Given the description of an element on the screen output the (x, y) to click on. 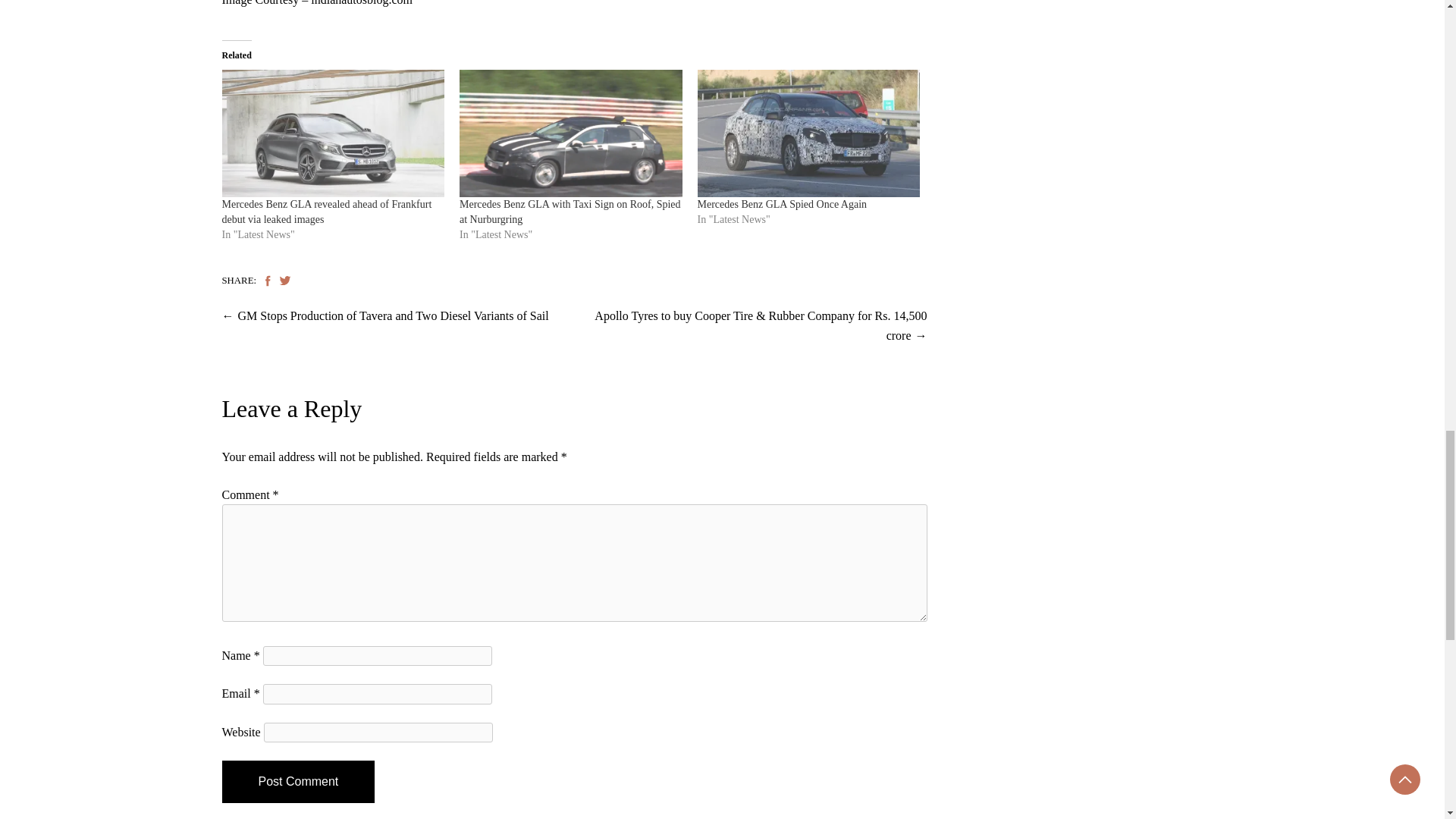
indianautosblog.com (361, 2)
Mercedes Benz GLA Spied Once Again (782, 204)
Mercedes Benz GLA Spied Once Again (782, 204)
Mercedes Benz GLA Spied Once Again (808, 133)
Post Comment (297, 781)
Post Comment (297, 781)
